Given the description of an element on the screen output the (x, y) to click on. 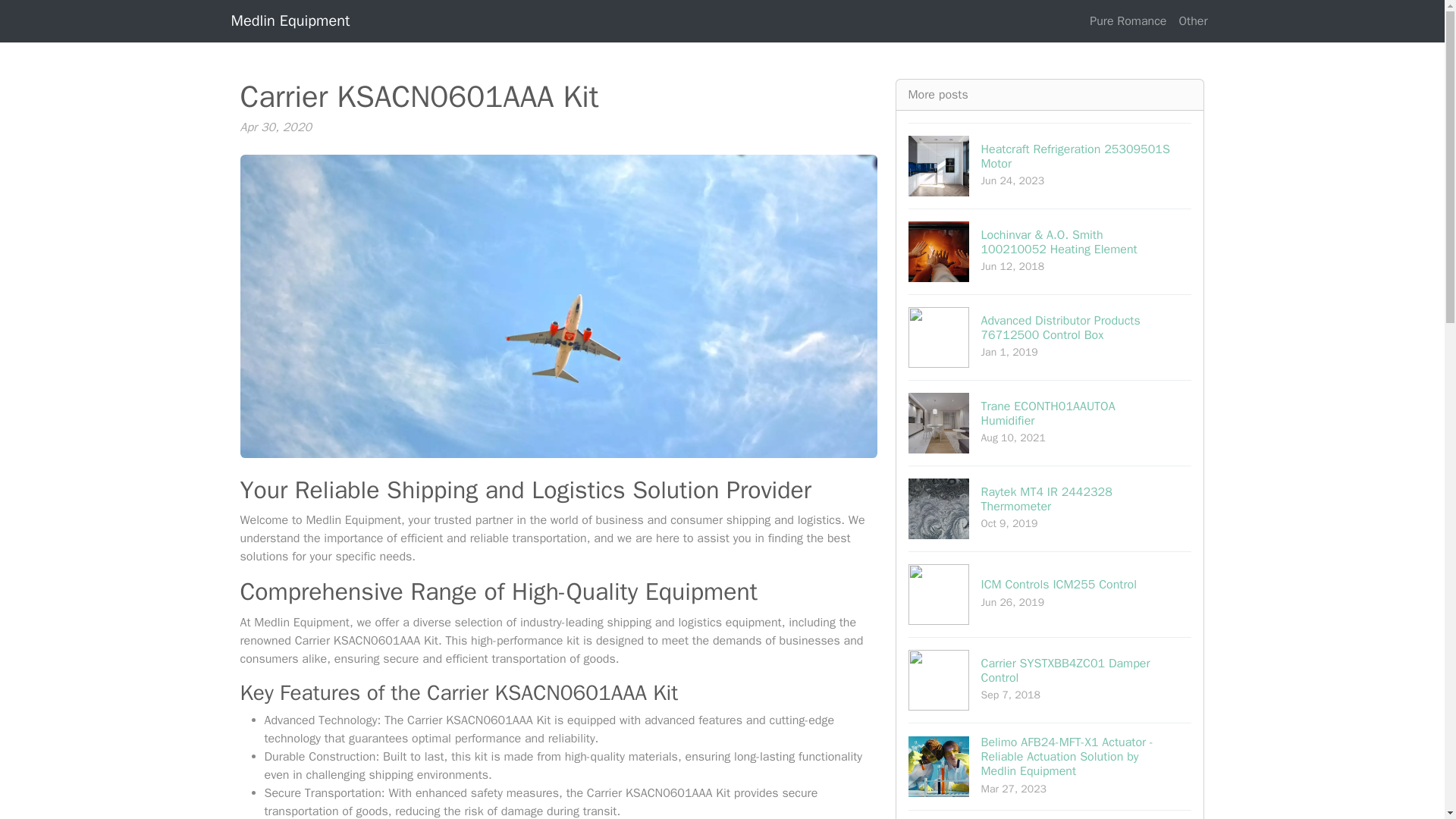
Medlin Equipment (1050, 165)
Other (1050, 594)
Pure Romance (1050, 814)
